Given the description of an element on the screen output the (x, y) to click on. 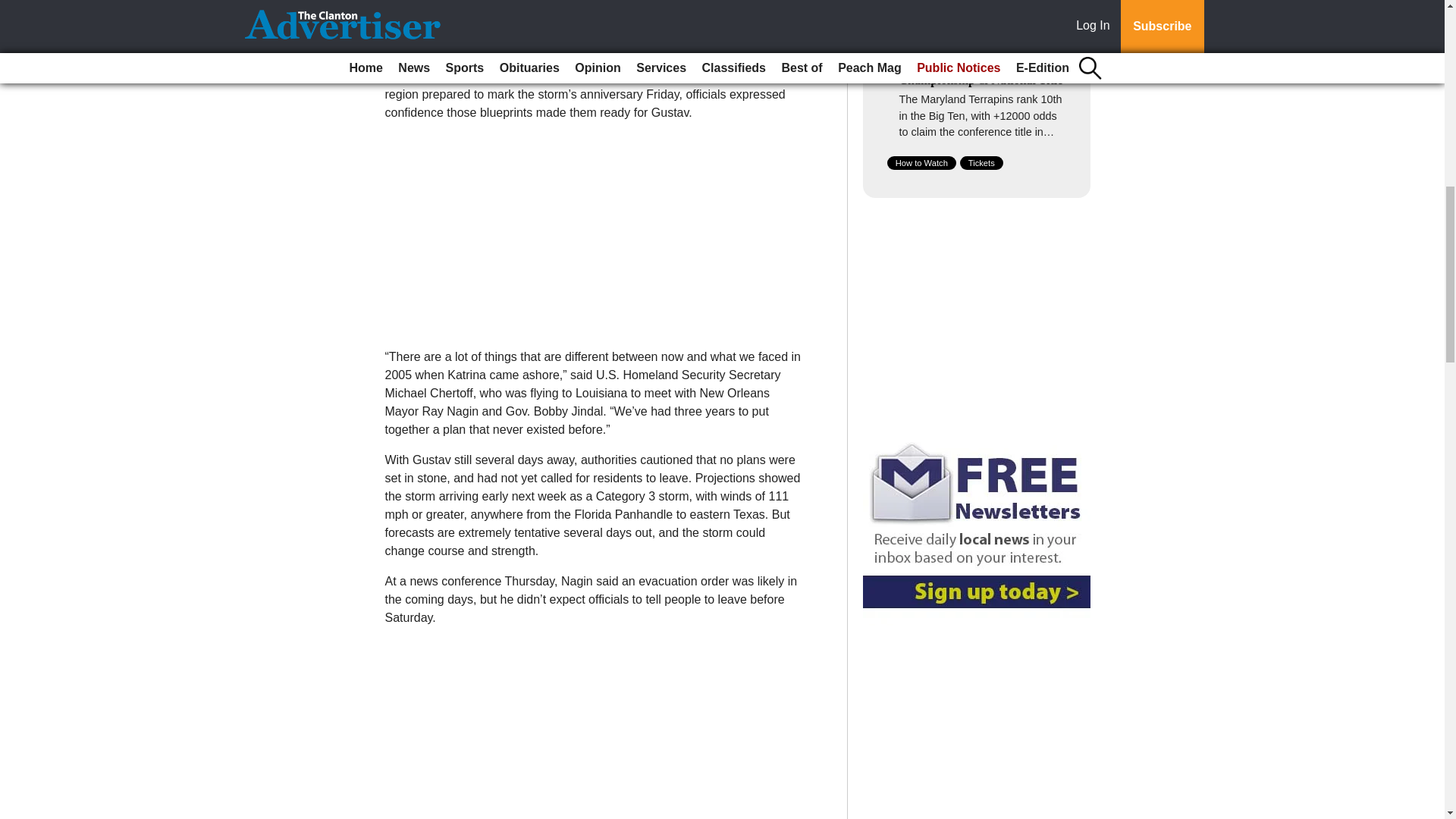
How to Watch (921, 162)
Tickets (981, 162)
